Given the description of an element on the screen output the (x, y) to click on. 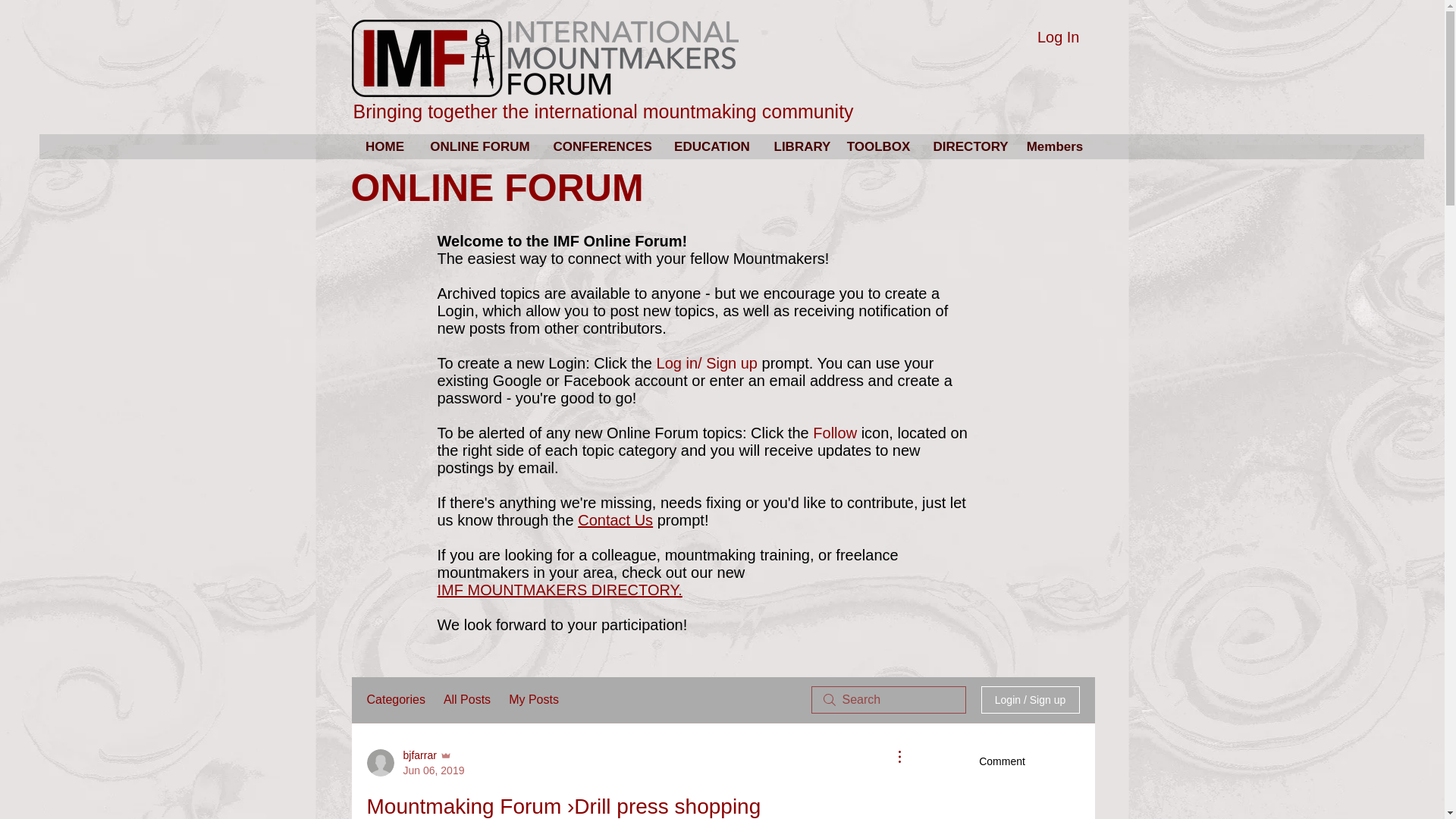
HOME (385, 146)
CONFERENCES (601, 146)
Contact Us (615, 519)
IMF MOUNTMAKERS DIRECTORY. (558, 589)
Log In (1058, 36)
Categories (395, 700)
EDUCATION (711, 146)
LIBRARY (798, 146)
All Posts (467, 700)
International Mountmakers Forum (545, 58)
My Posts (533, 700)
DIRECTORY (967, 146)
ONLINE FORUM (480, 146)
Members (1054, 146)
TOOLBOX (878, 146)
